Given the description of an element on the screen output the (x, y) to click on. 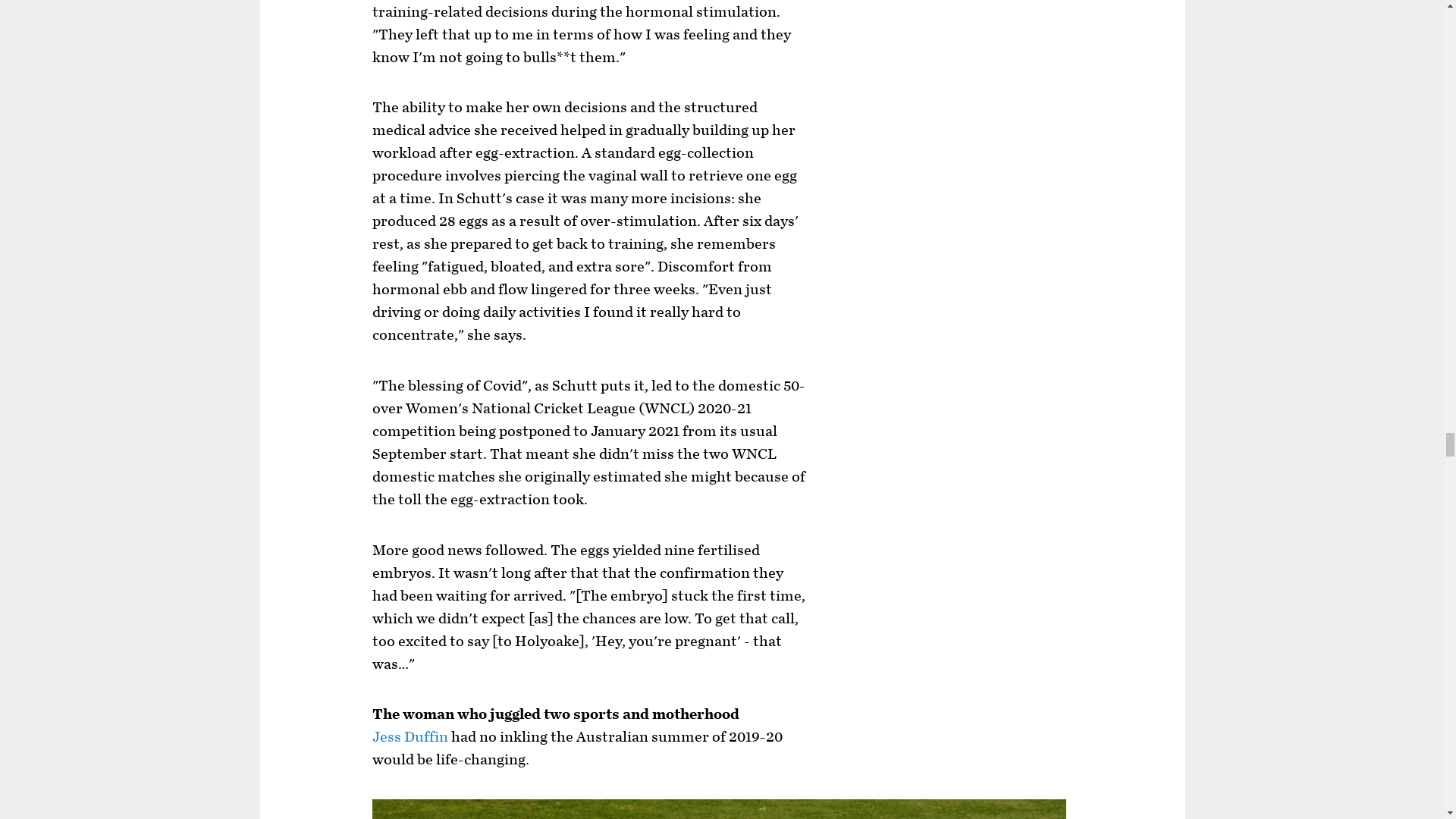
Jess Duffin (410, 736)
